Given the description of an element on the screen output the (x, y) to click on. 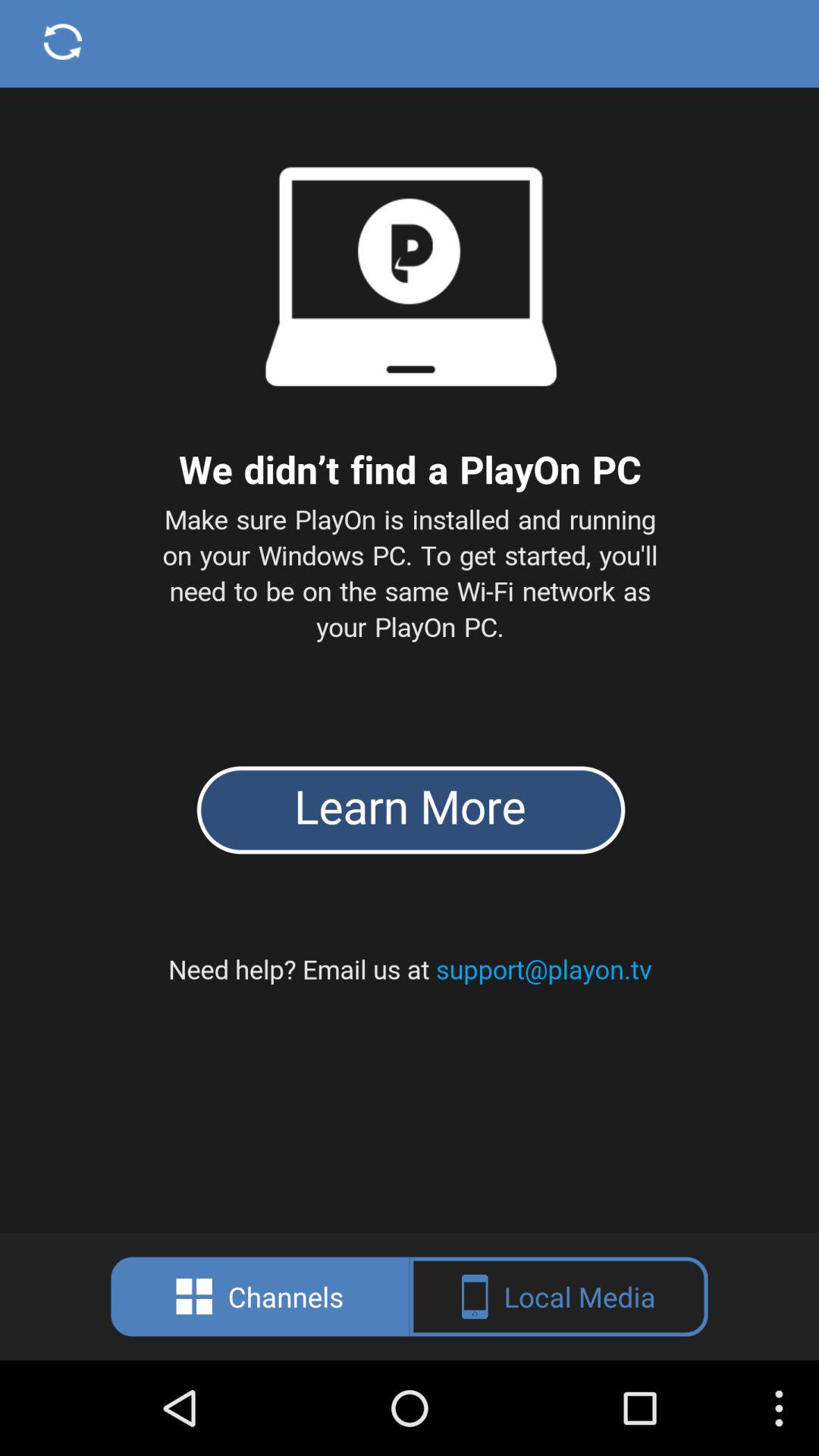
for advertisement (409, 616)
